Given the description of an element on the screen output the (x, y) to click on. 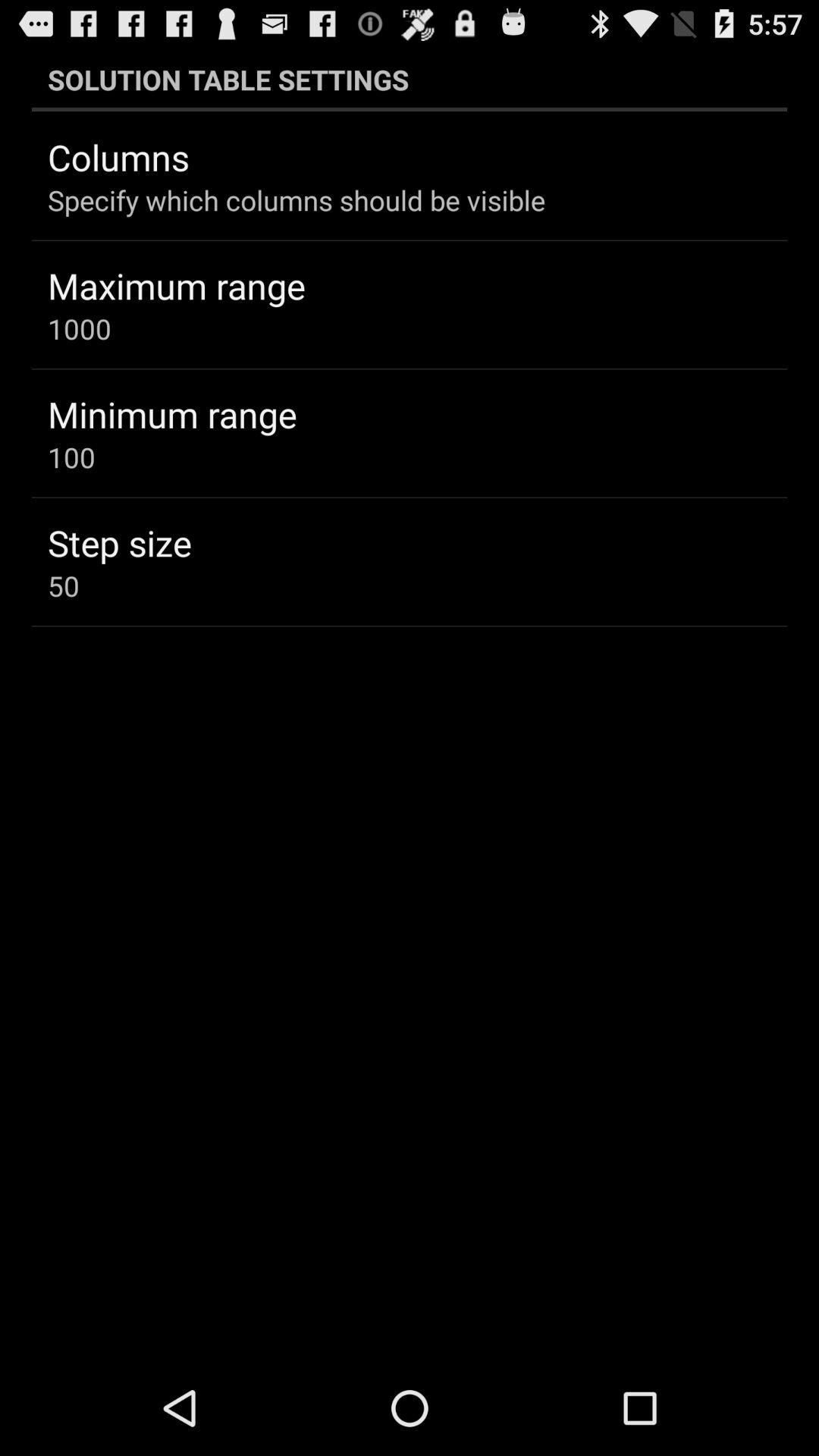
scroll to the maximum range (176, 285)
